Given the description of an element on the screen output the (x, y) to click on. 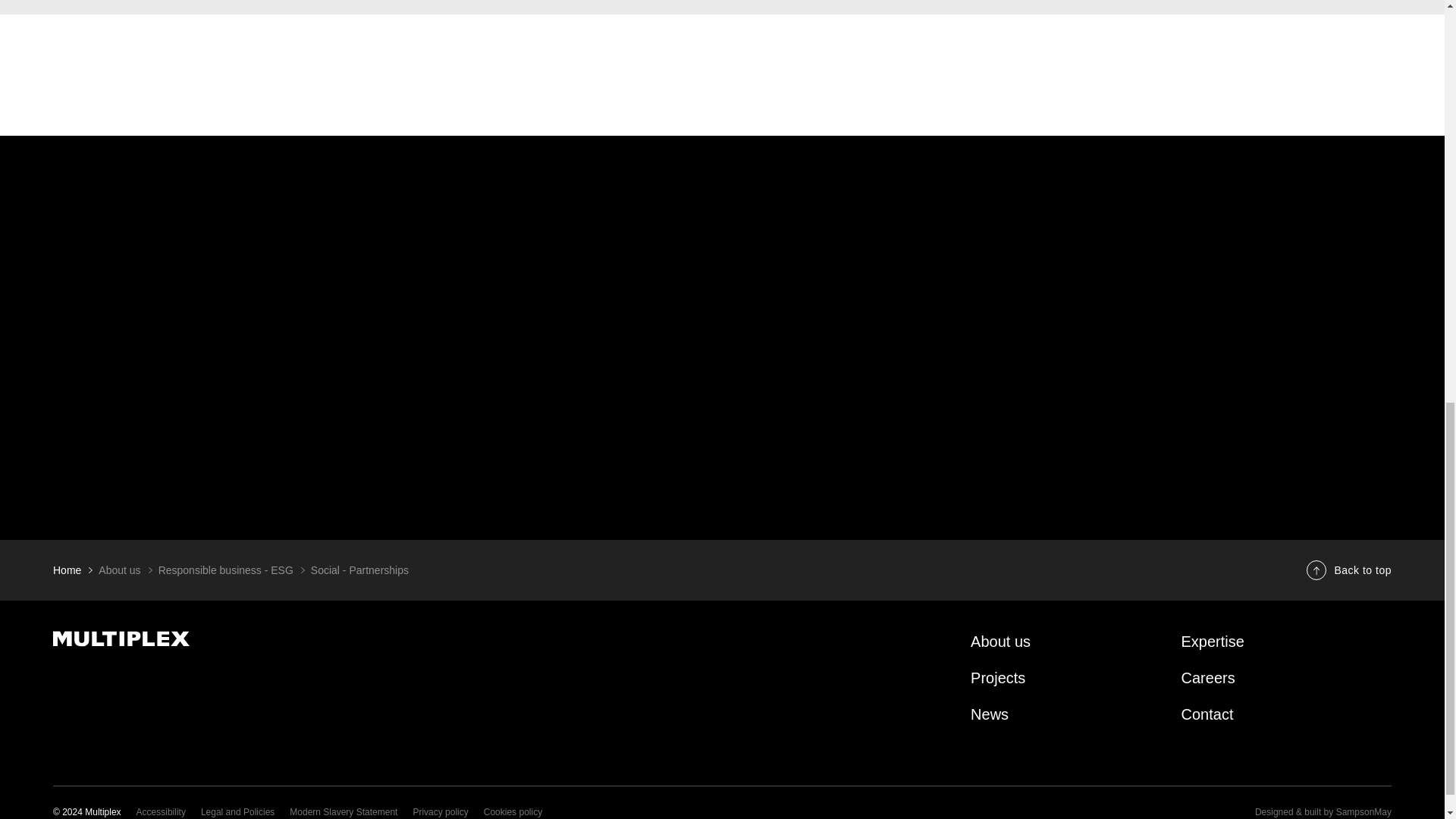
Multiplex - Link to homepage (263, 638)
